Given the description of an element on the screen output the (x, y) to click on. 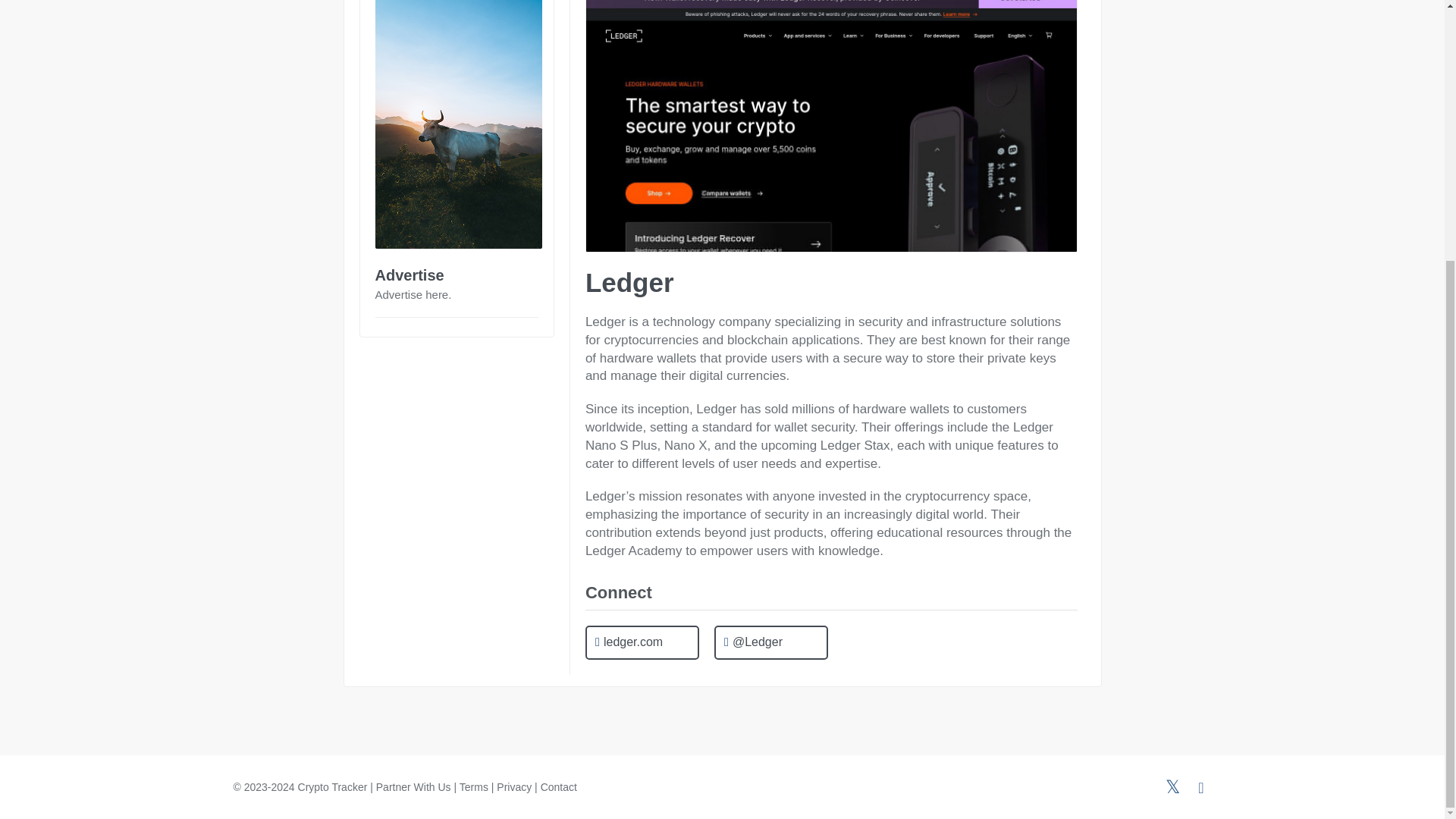
ledger.com (641, 642)
Terms (473, 787)
Contact (558, 787)
Partner With Us (413, 787)
Privacy (513, 787)
Advertise (409, 274)
Crypto Tracker (333, 787)
